Given the description of an element on the screen output the (x, y) to click on. 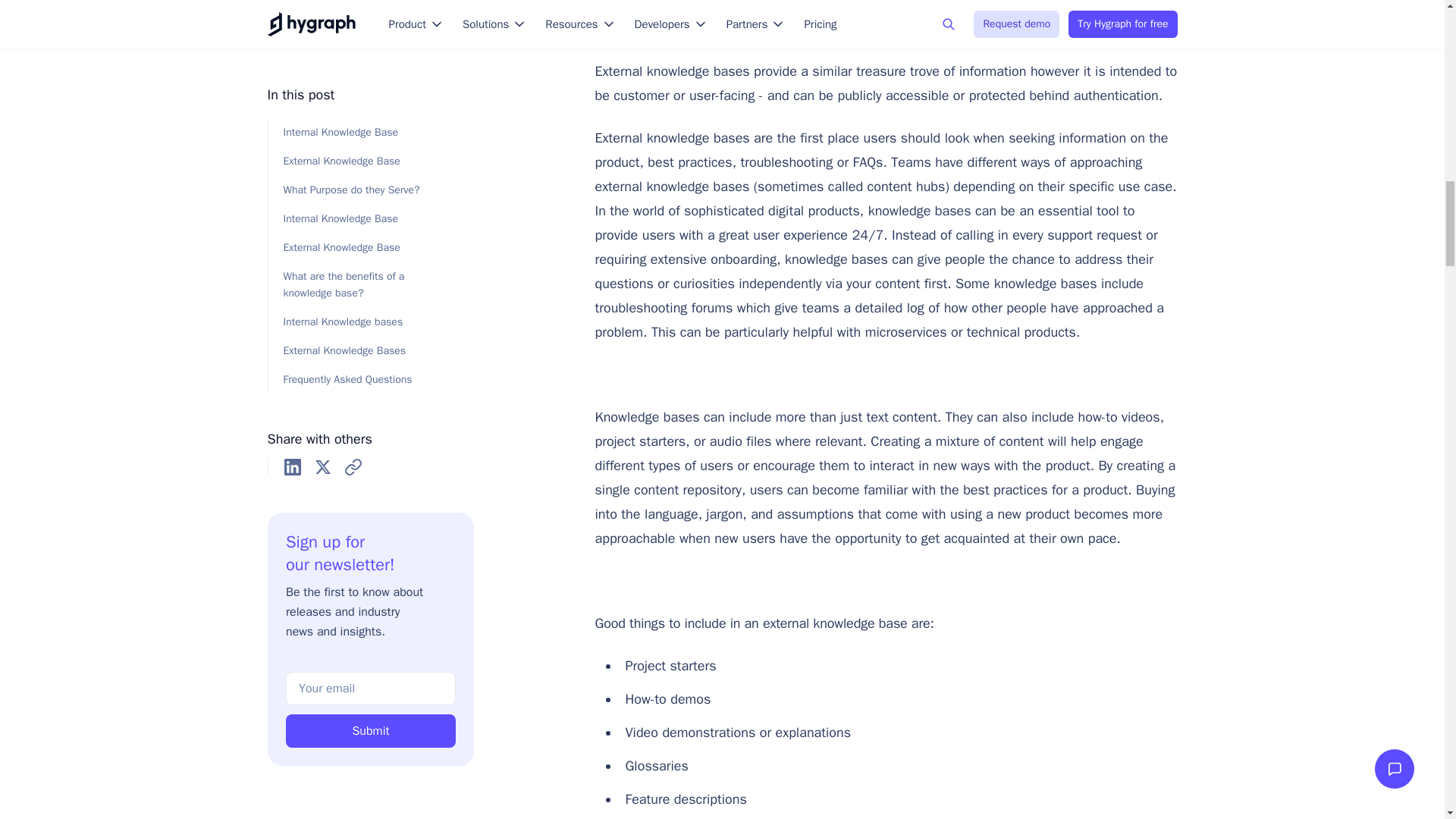
External Knowledge Base (879, 18)
